Given the description of an element on the screen output the (x, y) to click on. 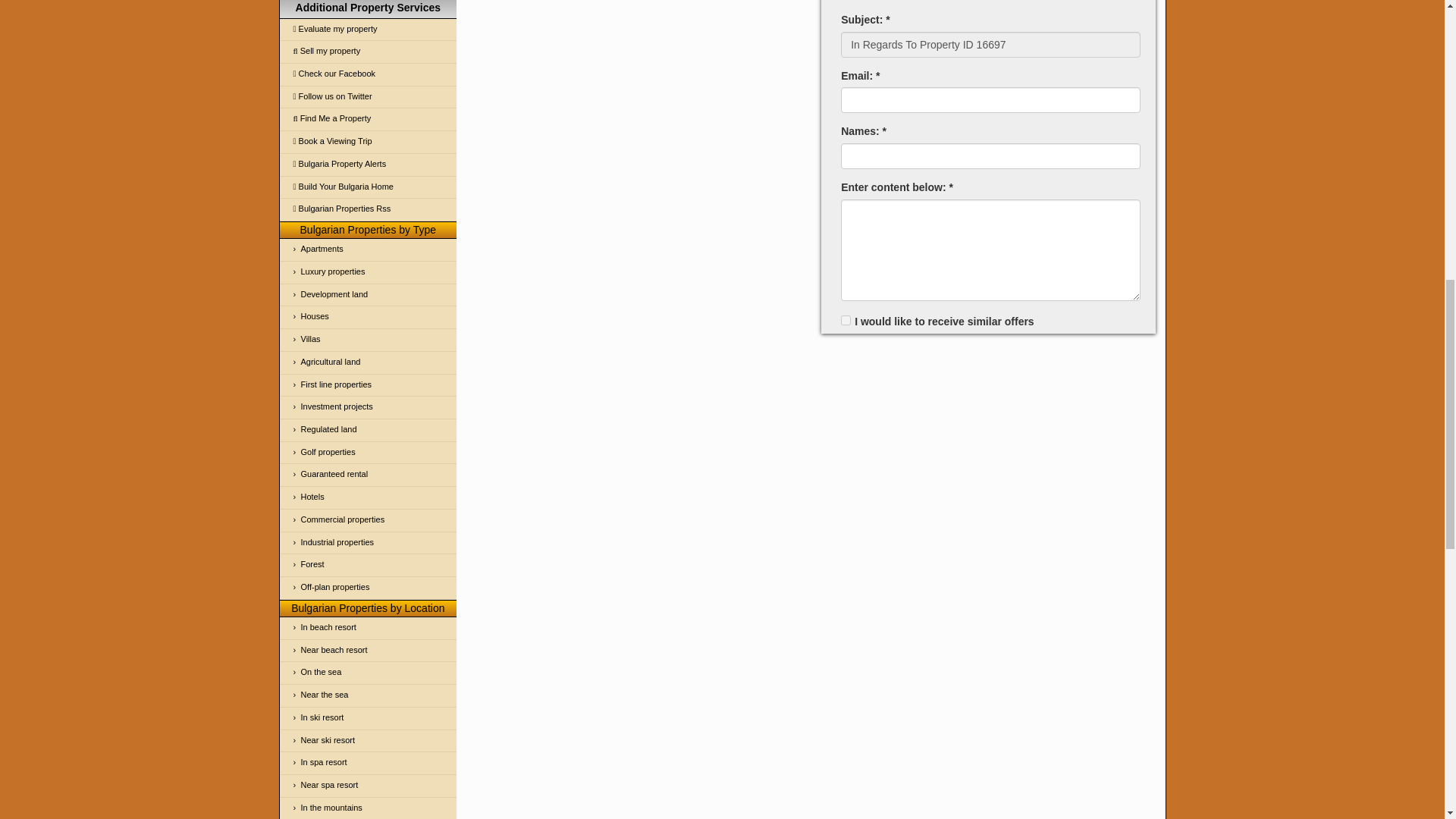
Bulgaria Property Alerts (368, 164)
Luxury properties (368, 272)
Build Your Bulgaria Home (368, 187)
Villas (368, 340)
Apartments (368, 250)
Check our Facebook (368, 74)
Find Me a Property (368, 119)
Evaluate my property (368, 29)
Development land (368, 295)
In Regards To Property ID 16697 (990, 44)
